Given the description of an element on the screen output the (x, y) to click on. 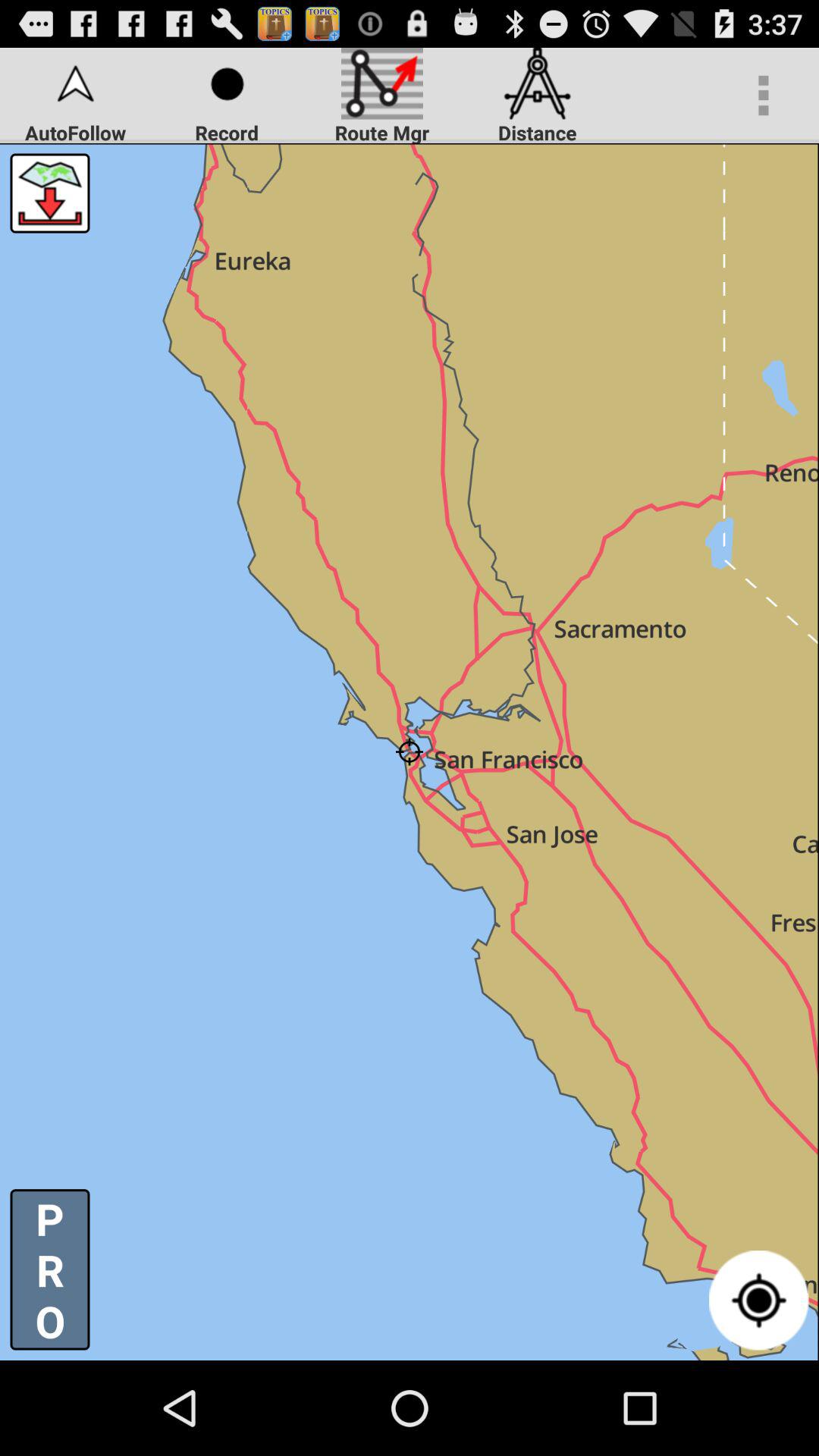
turn on the icon at the bottom right corner (758, 1300)
